Given the description of an element on the screen output the (x, y) to click on. 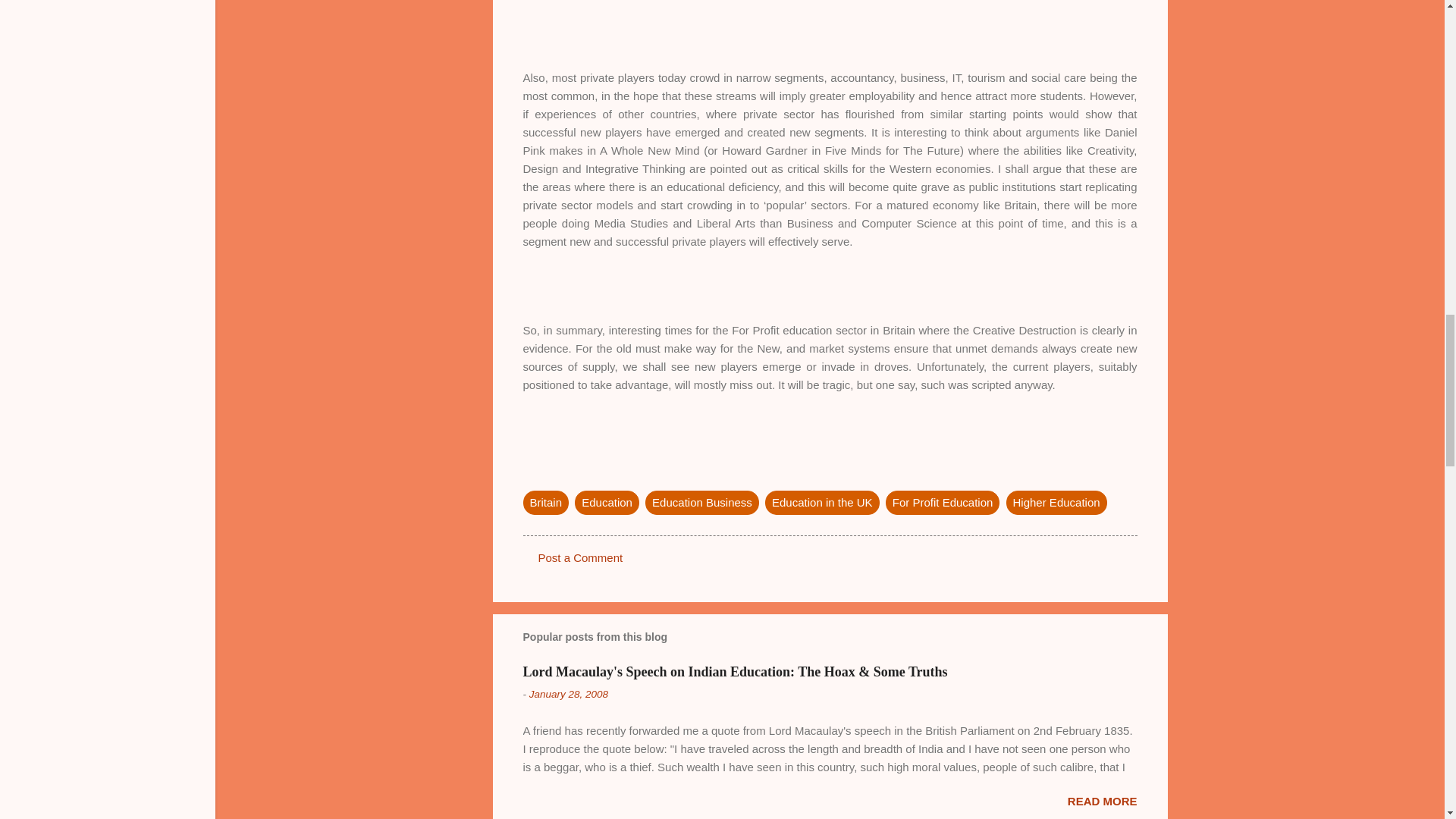
Post a Comment (580, 557)
READ MORE (1102, 800)
Education (607, 501)
January 28, 2008 (568, 694)
Education in the UK (822, 501)
Email Post (531, 472)
Britain (545, 501)
Education Business (701, 501)
For Profit Education (942, 501)
permanent link (568, 694)
Higher Education (1056, 501)
